Given the description of an element on the screen output the (x, y) to click on. 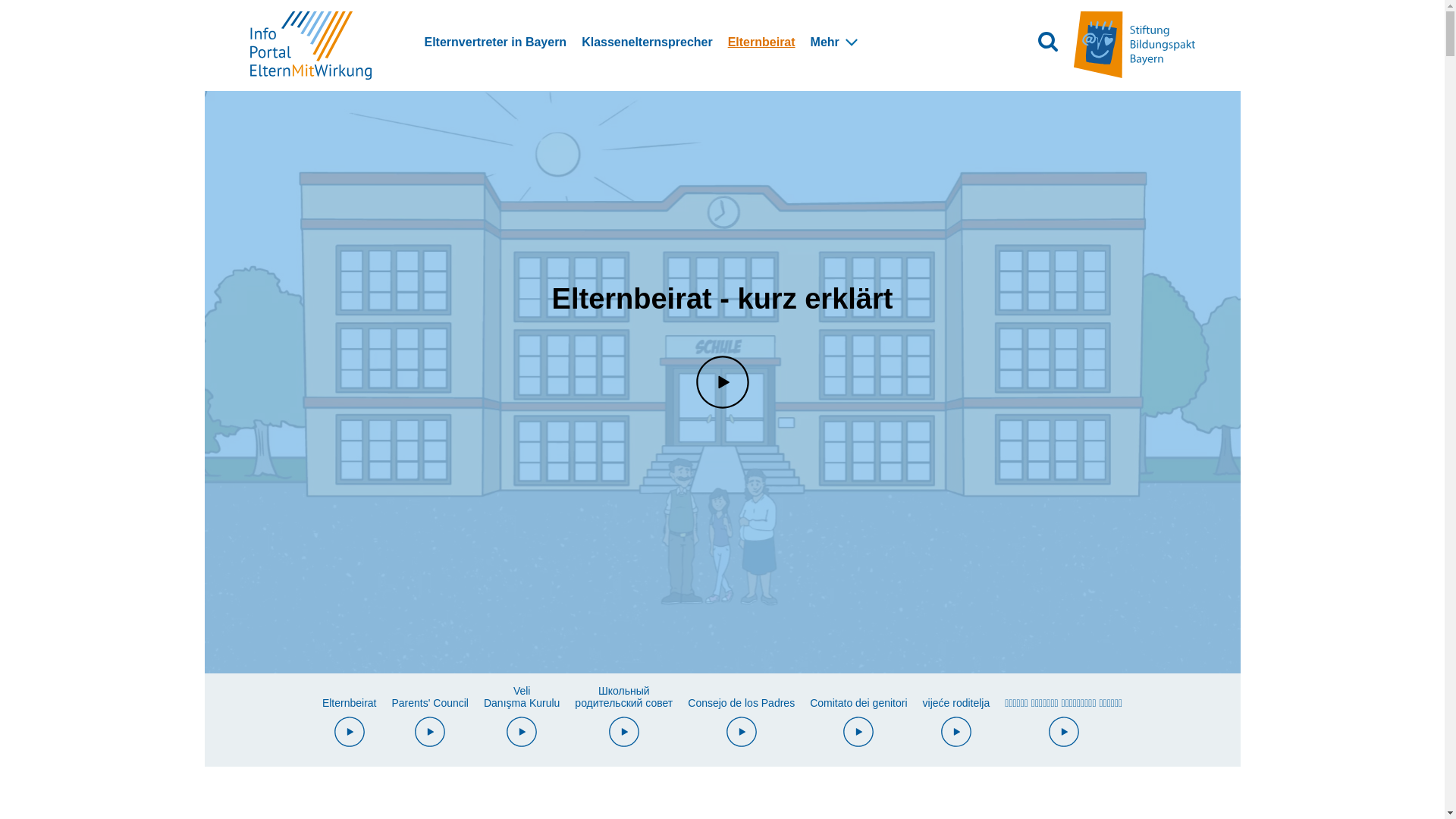
Mehr Element type: text (825, 42)
Elternvertreter in Bayern Element type: text (495, 42)
Elternbeirat Element type: text (761, 42)
Klassenelternsprecher Element type: text (647, 42)
Parents' Council Element type: text (429, 725)
Consejo de los Padres Element type: text (740, 725)
Comitato dei genitori Element type: text (857, 725)
Elternbeirat Element type: text (349, 725)
